Given the description of an element on the screen output the (x, y) to click on. 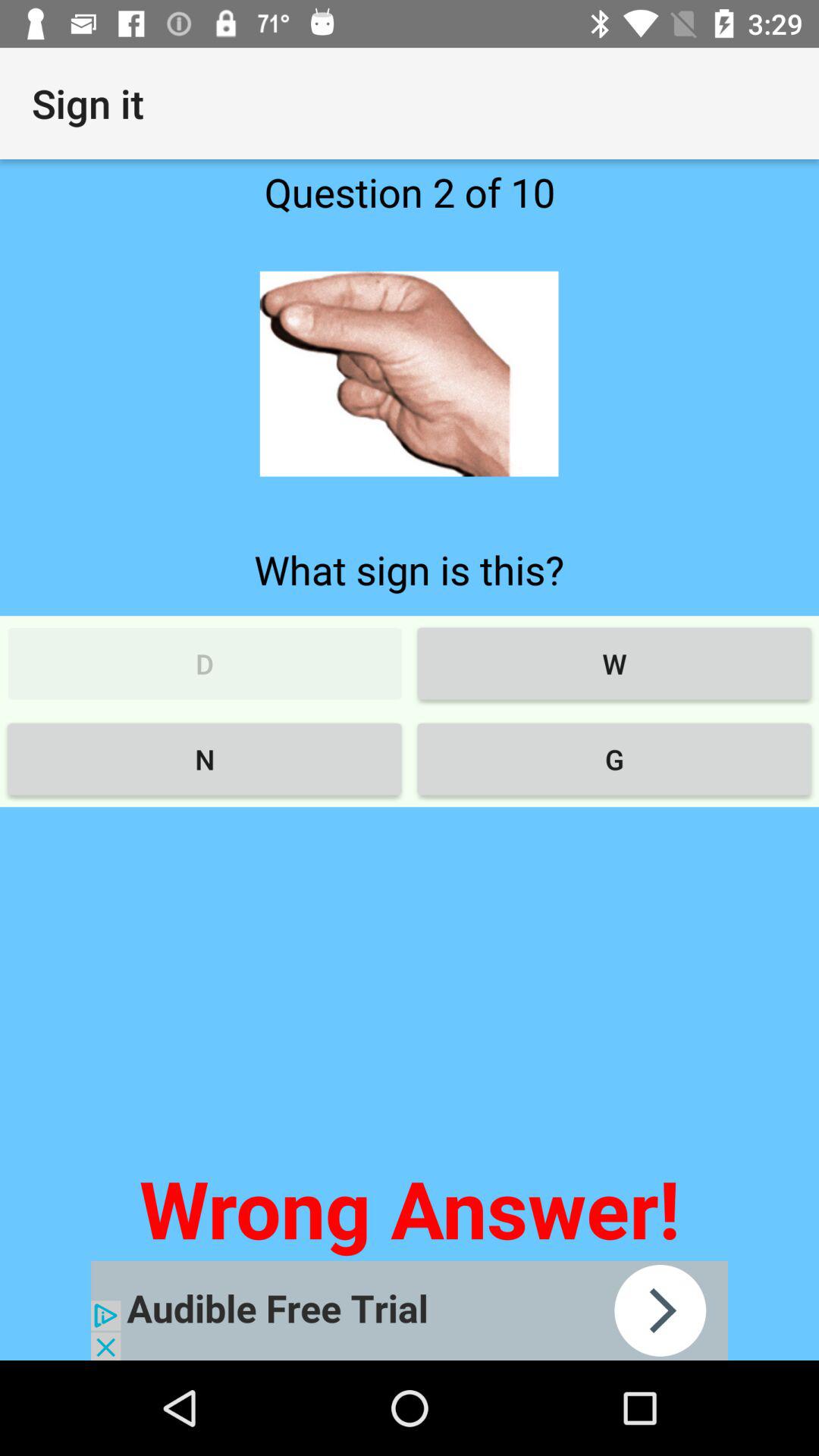
advertisement (409, 1310)
